Given the description of an element on the screen output the (x, y) to click on. 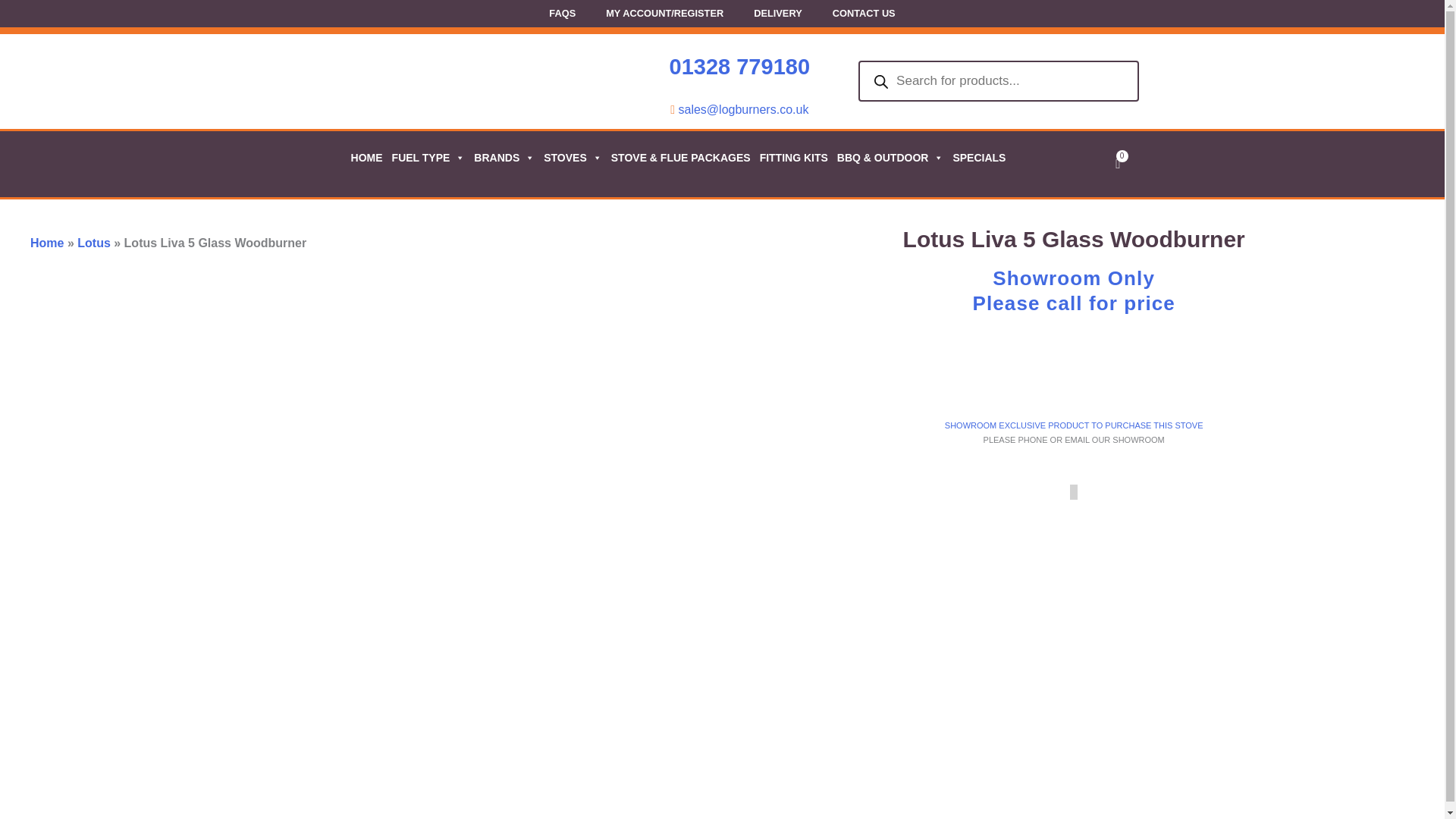
BRANDS (502, 157)
FAQS (562, 15)
HOME (365, 157)
FUEL TYPE (427, 157)
CONTACT US (863, 15)
View brand (1265, 375)
DELIVERY (777, 15)
01328 779180 (739, 66)
